Given the description of an element on the screen output the (x, y) to click on. 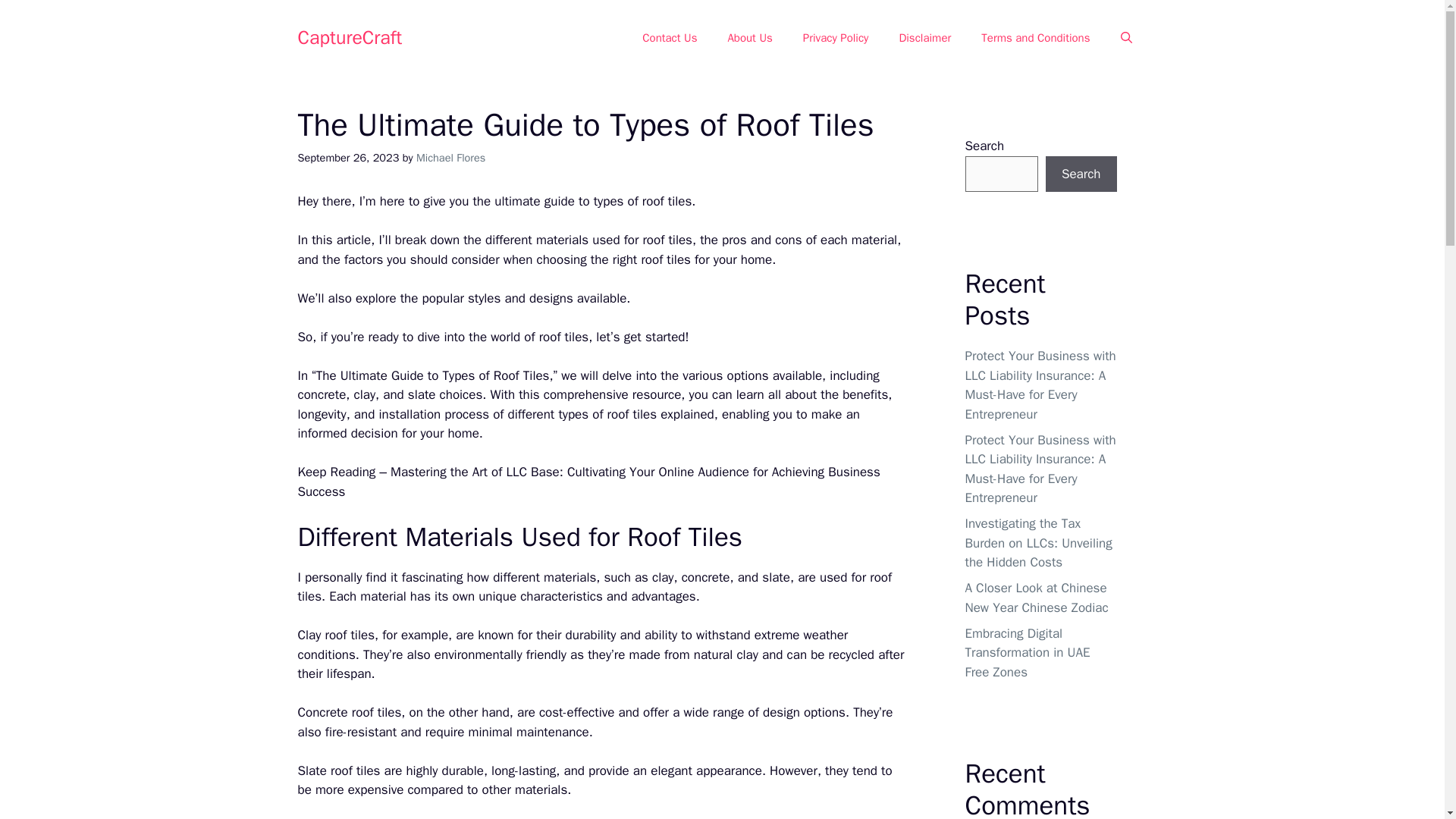
A Closer Look at Chinese New Year Chinese Zodiac (1035, 597)
About Us (749, 37)
the ultimate guide to types of roof tiles (581, 201)
CaptureCraft (349, 37)
View all posts by Michael Flores (450, 157)
Privacy Policy (835, 37)
types of roof tiles explained (635, 414)
Michael Flores (450, 157)
